Given the description of an element on the screen output the (x, y) to click on. 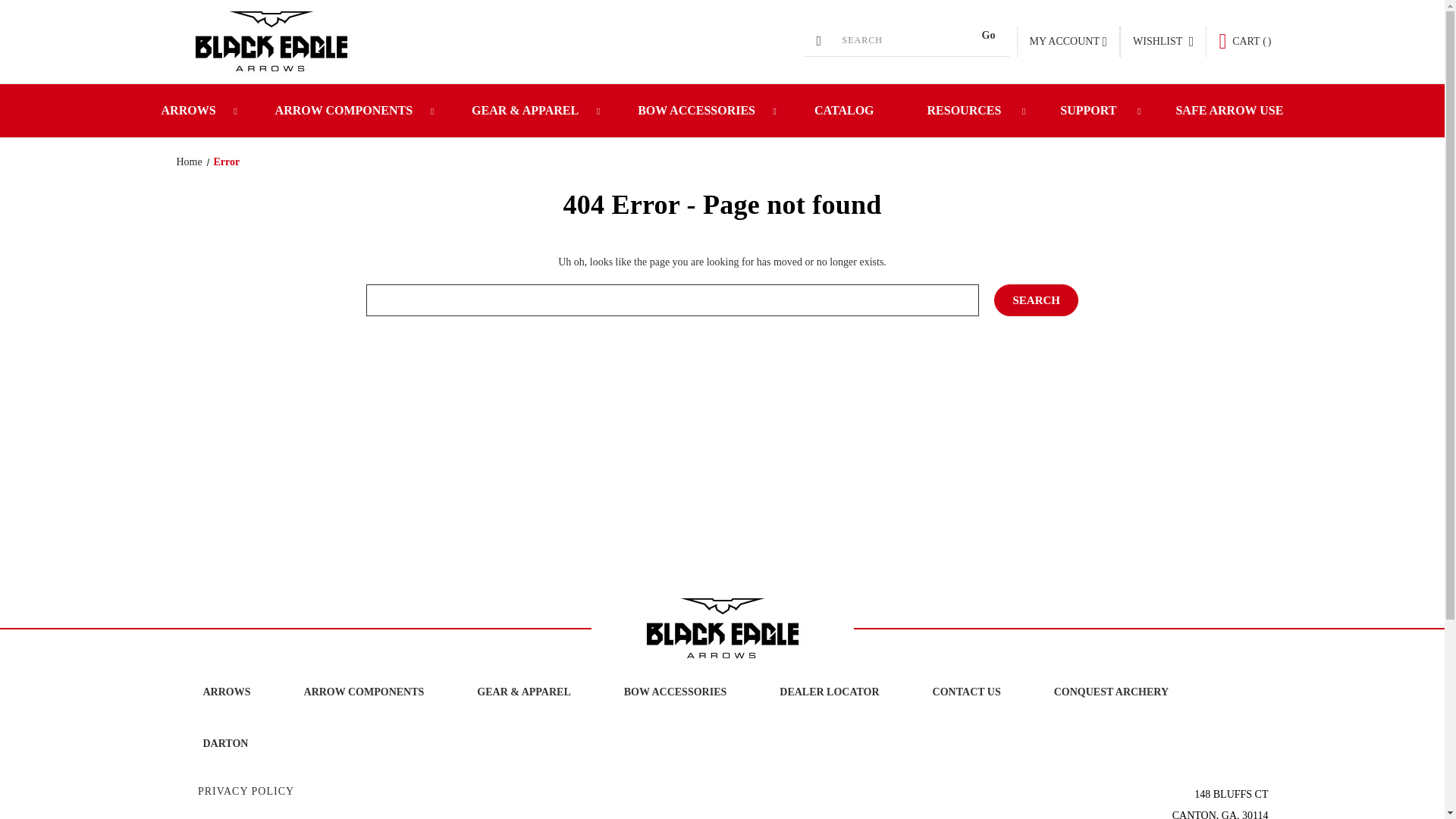
Black Eagle Arrows (270, 41)
MY ACCOUNT (1068, 41)
Go (988, 35)
ARROWS (191, 110)
Black Eagle Arrows (722, 628)
Search (1036, 300)
CART (1244, 41)
WISHLIST (1163, 41)
Go (988, 35)
